Given the description of an element on the screen output the (x, y) to click on. 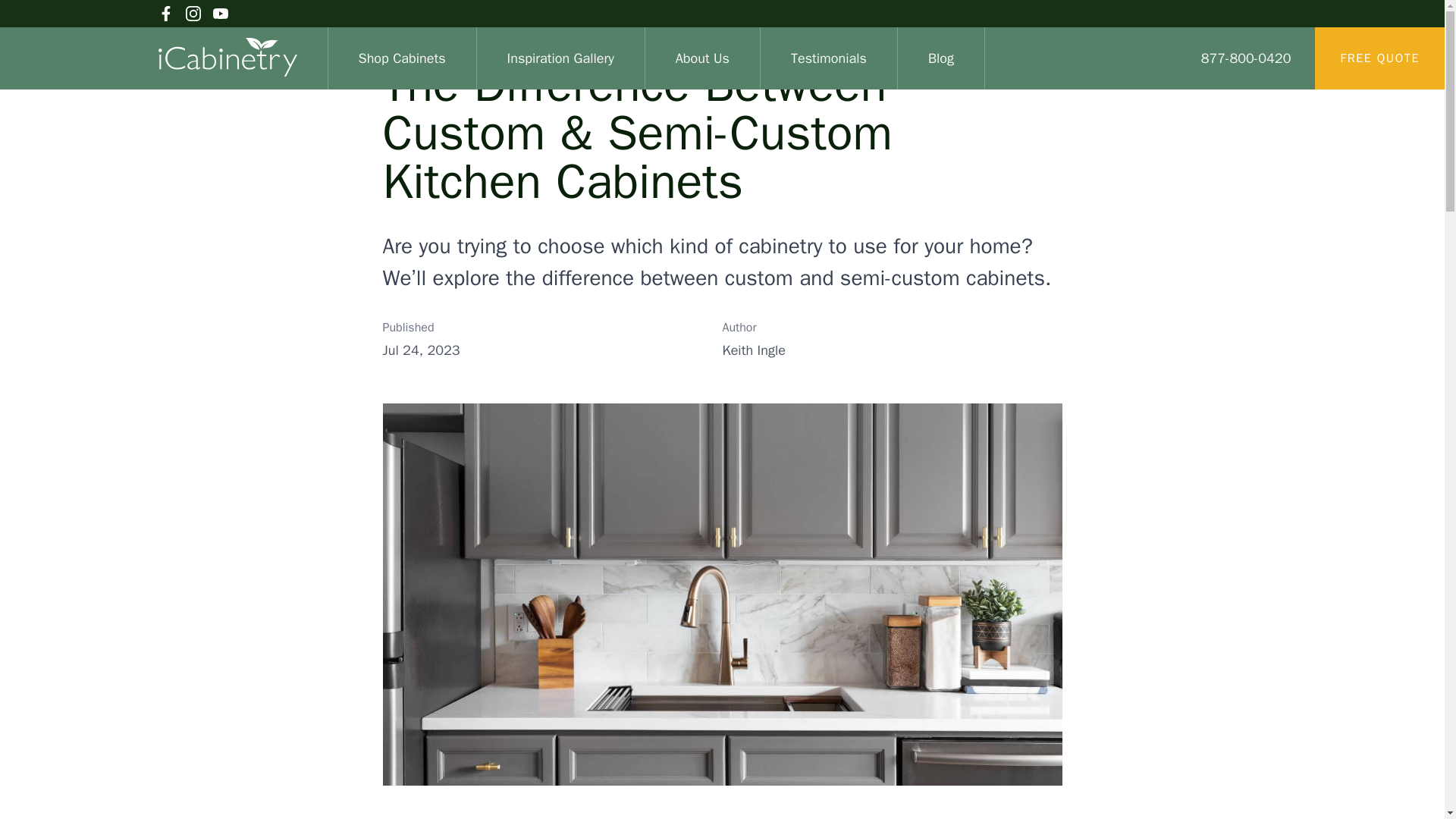
Shop Cabinets (401, 58)
About Us (702, 58)
Testimonials (828, 58)
877-800-0420 (1246, 57)
Blog (941, 58)
Inspiration Gallery (561, 58)
